Given the description of an element on the screen output the (x, y) to click on. 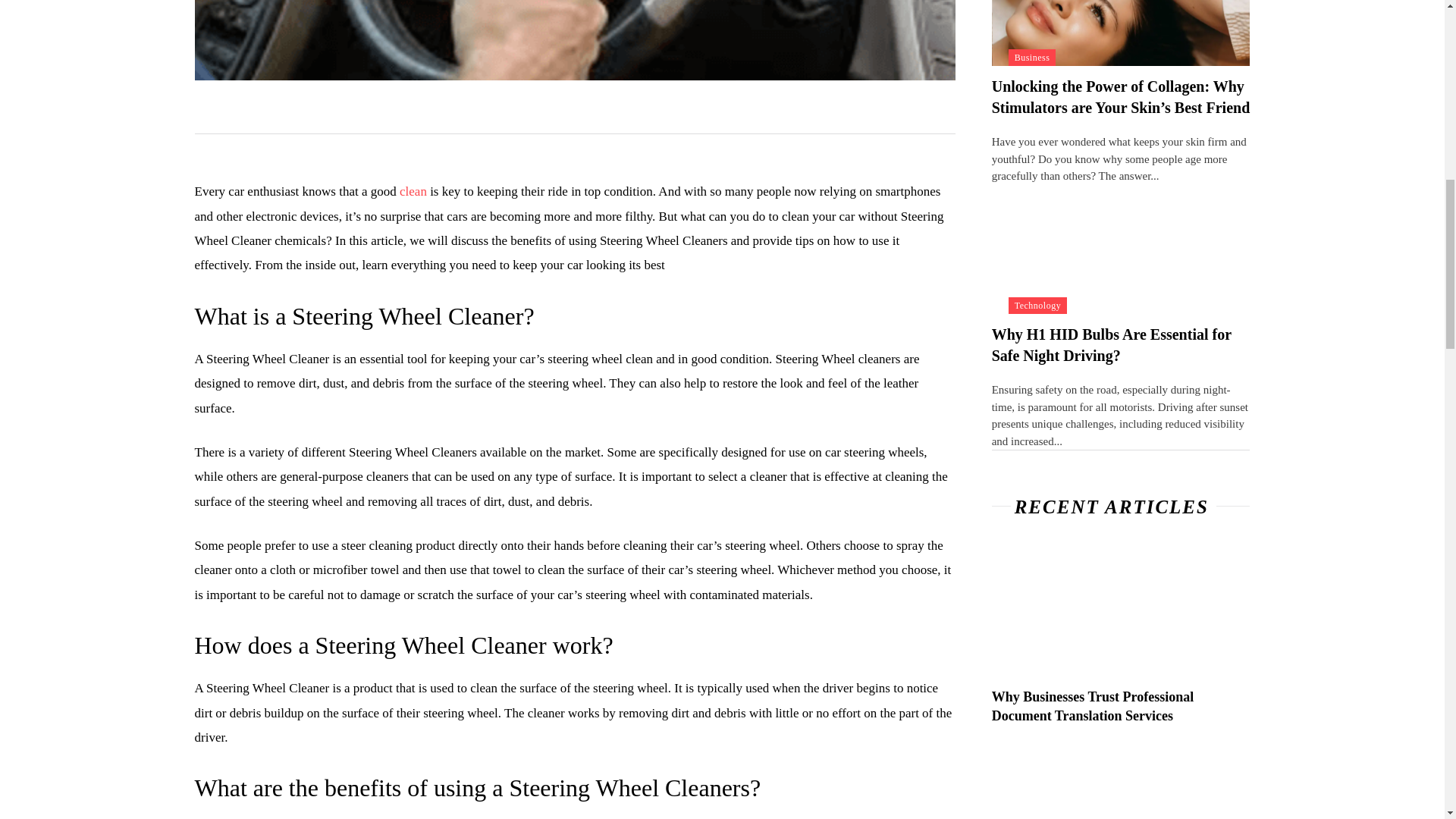
Why H1 HID Bulbs Are Essential for Safe Night Driving? (1120, 249)
steering wheel cleaner (574, 40)
Why H1 HID Bulbs Are Essential for Safe Night Driving? (1111, 344)
clean (413, 191)
